Given the description of an element on the screen output the (x, y) to click on. 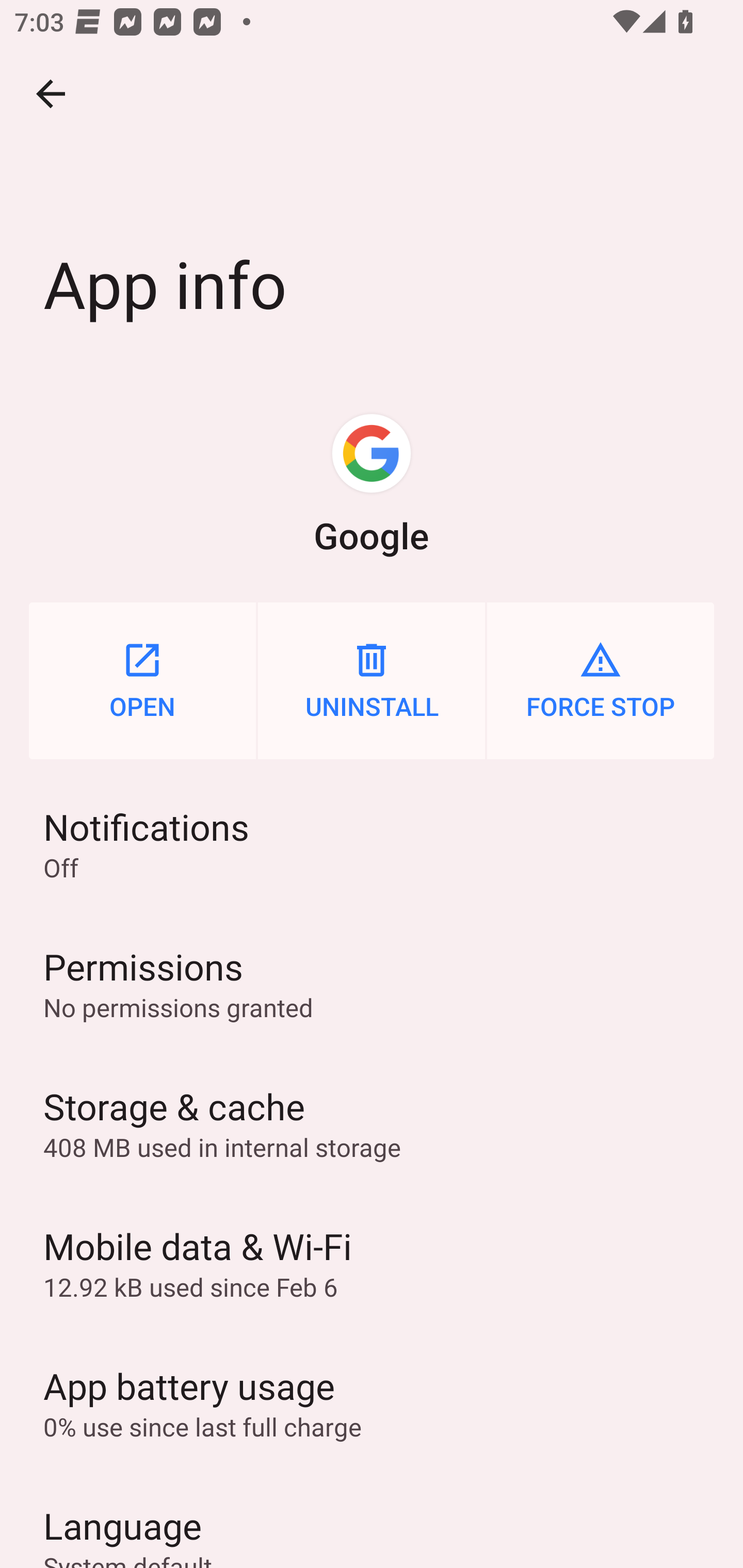
Navigate up (50, 93)
OPEN (141, 680)
UNINSTALL (371, 680)
FORCE STOP (600, 680)
Notifications Off (371, 843)
Permissions No permissions granted (371, 983)
Storage & cache 408 MB used in internal storage (371, 1123)
Mobile data & Wi‑Fi 12.92 kB used since Feb 6 (371, 1262)
App battery usage 0% use since last full charge (371, 1402)
Language System default (371, 1520)
